Given the description of an element on the screen output the (x, y) to click on. 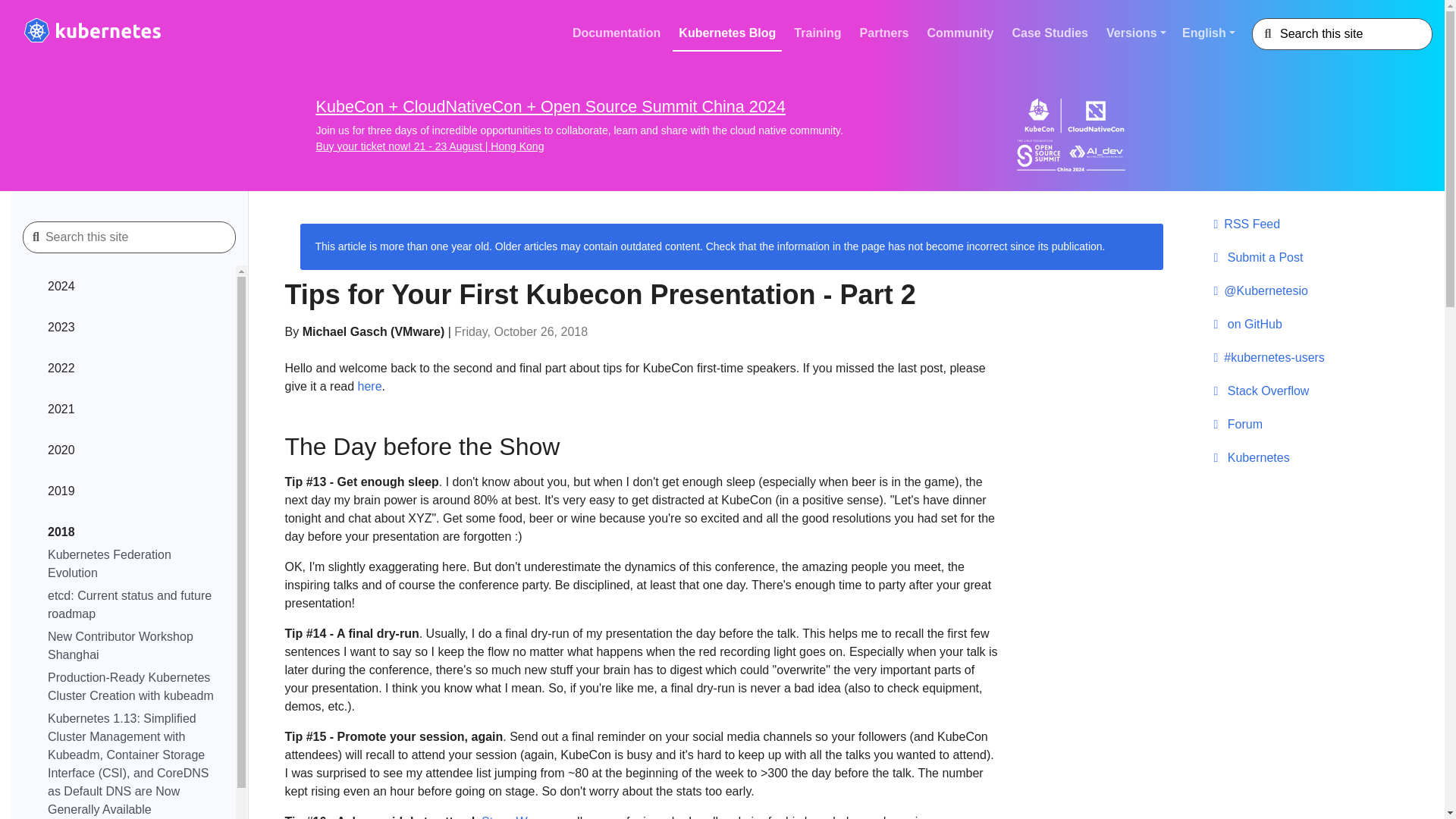
Kubernetes Blog (726, 33)
Case Studies (1050, 33)
Versions (1138, 33)
English (1214, 33)
Training (817, 33)
Partners (884, 33)
Documentation (616, 33)
Community (960, 33)
2024 (132, 288)
